Given the description of an element on the screen output the (x, y) to click on. 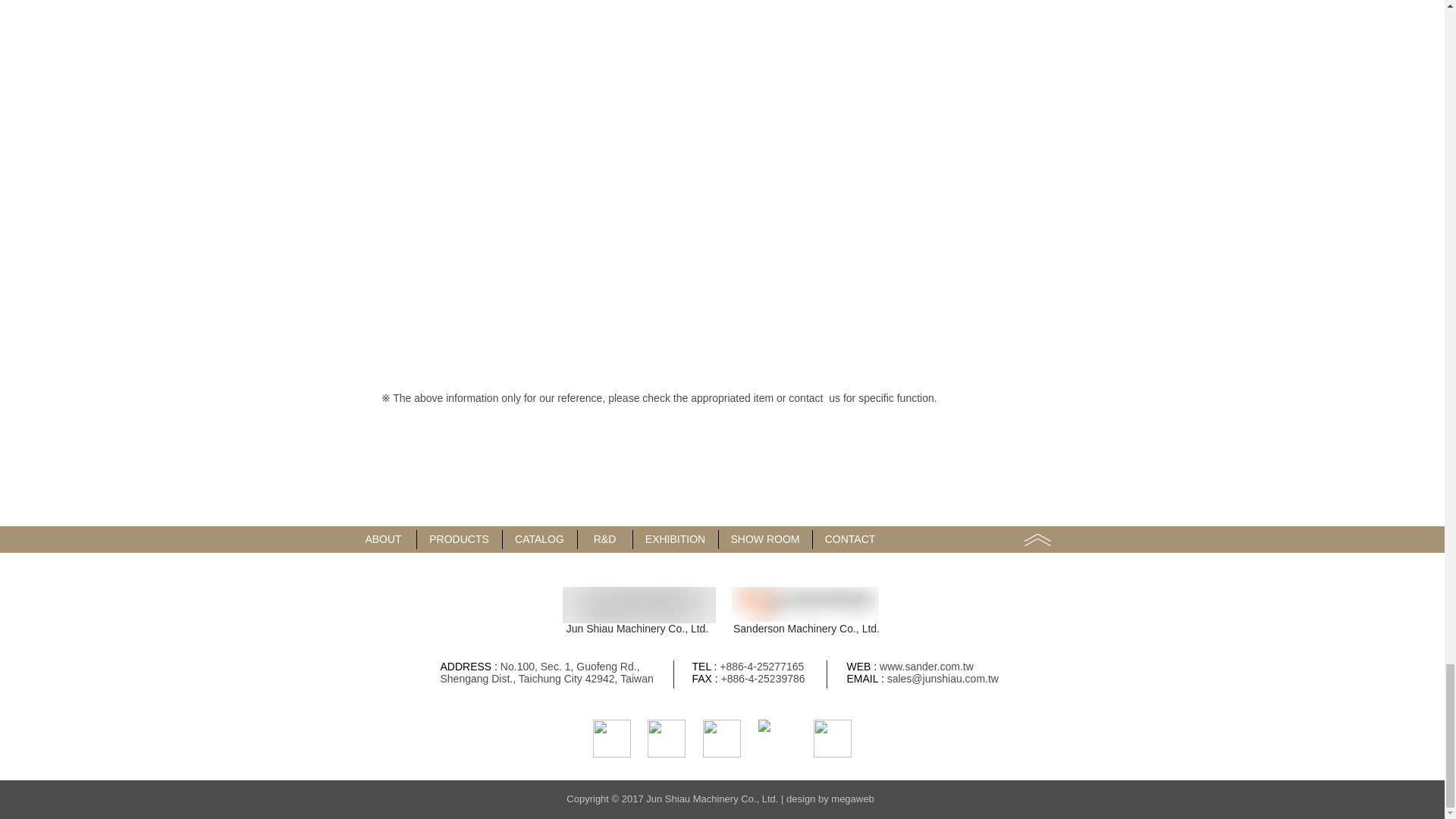
EXHIBITION (674, 538)
www.sander.com.tw (926, 666)
CONTACT (850, 538)
CATALOG (539, 538)
SHOW ROOM (765, 538)
PRODUCTS (459, 538)
